Given the description of an element on the screen output the (x, y) to click on. 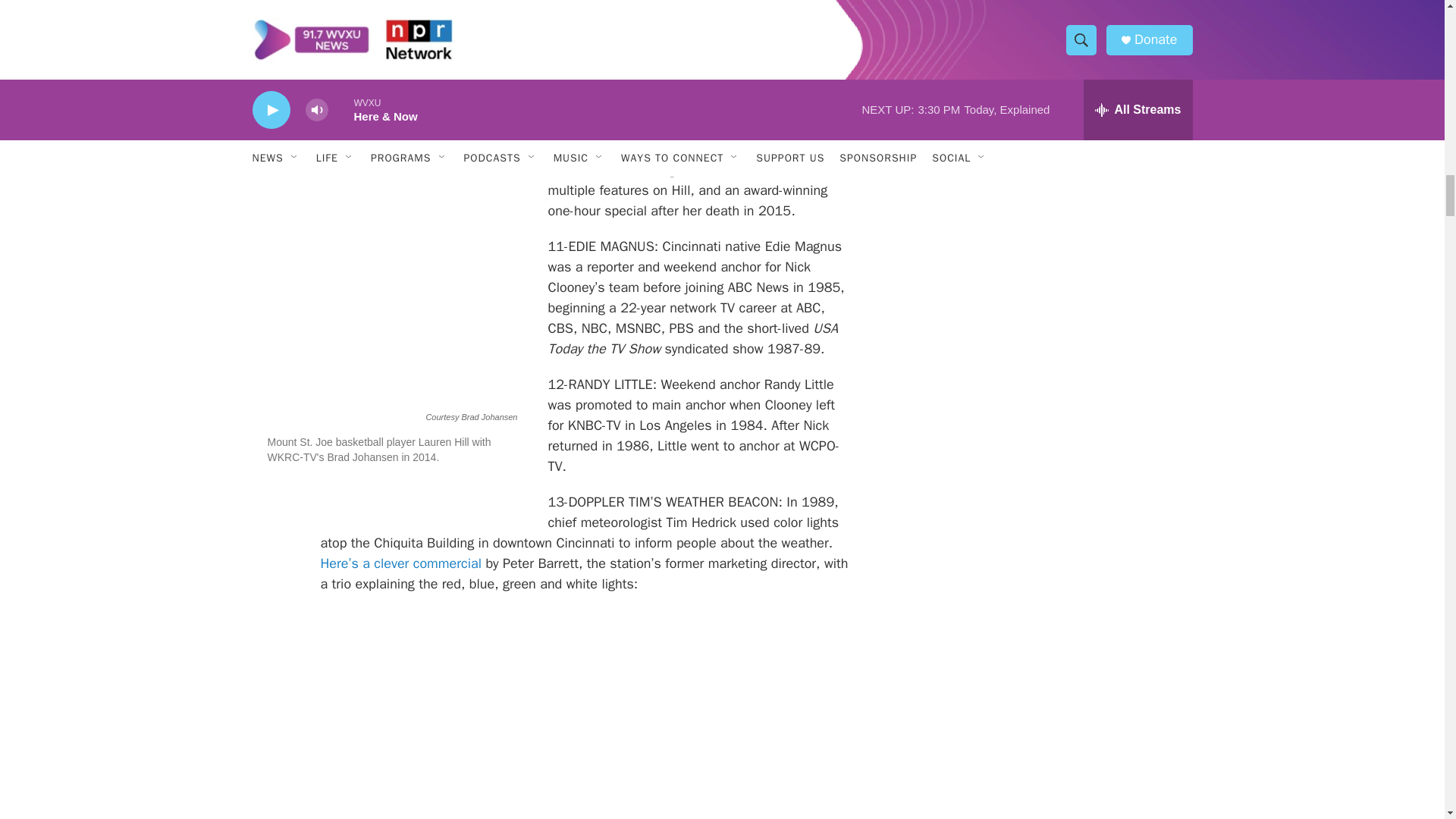
WKRC Weather Beacon 1987.wmv (585, 725)
